Given the description of an element on the screen output the (x, y) to click on. 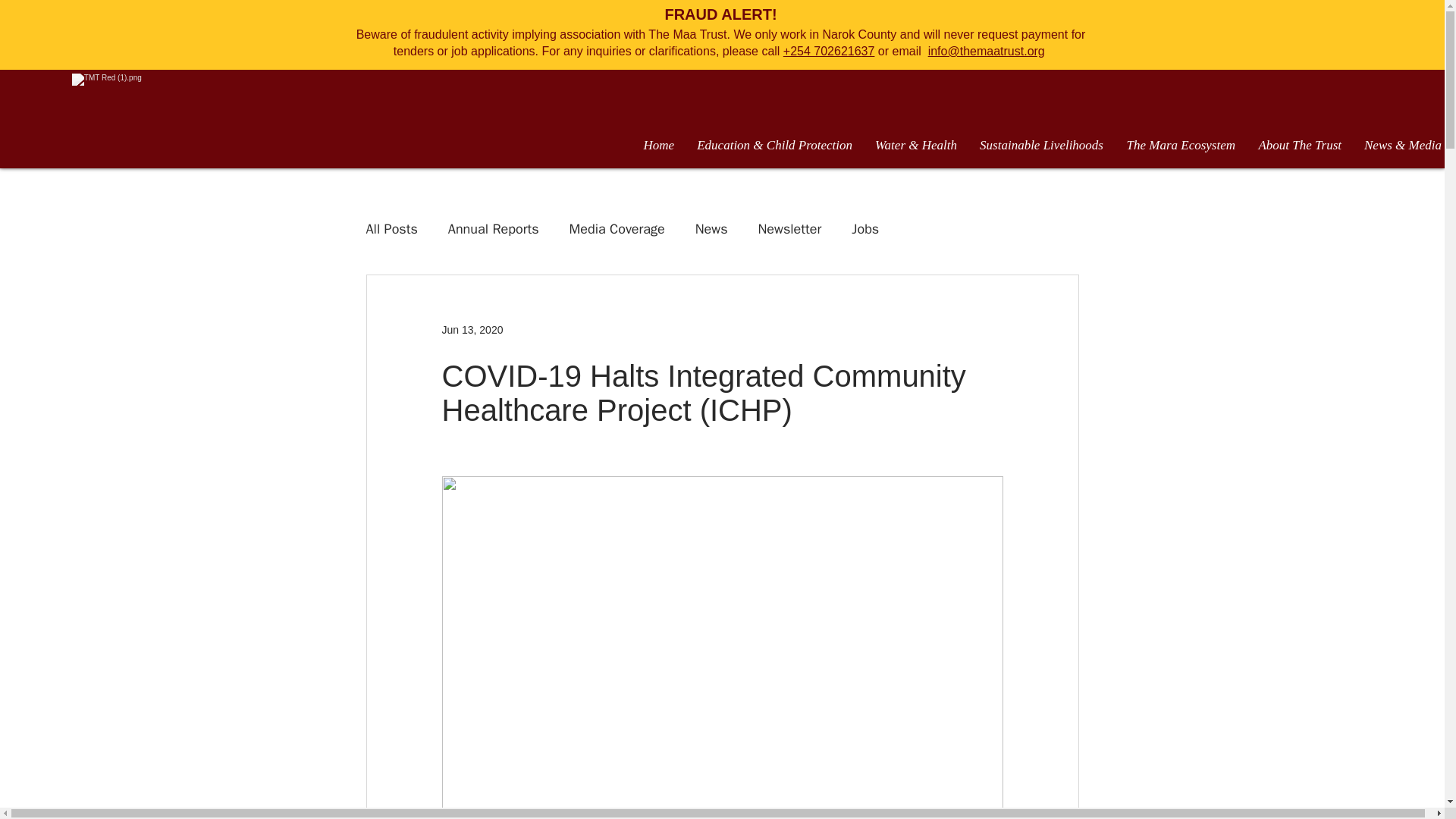
News (711, 229)
All Posts (390, 229)
Annual Reports (493, 229)
Jobs (865, 229)
About The Trust (1299, 145)
Media Coverage (617, 229)
The Mara Ecosystem (1180, 145)
Newsletter (790, 229)
Jun 13, 2020 (471, 328)
Home (658, 145)
Sustainable Livelihoods (1041, 145)
